Given the description of an element on the screen output the (x, y) to click on. 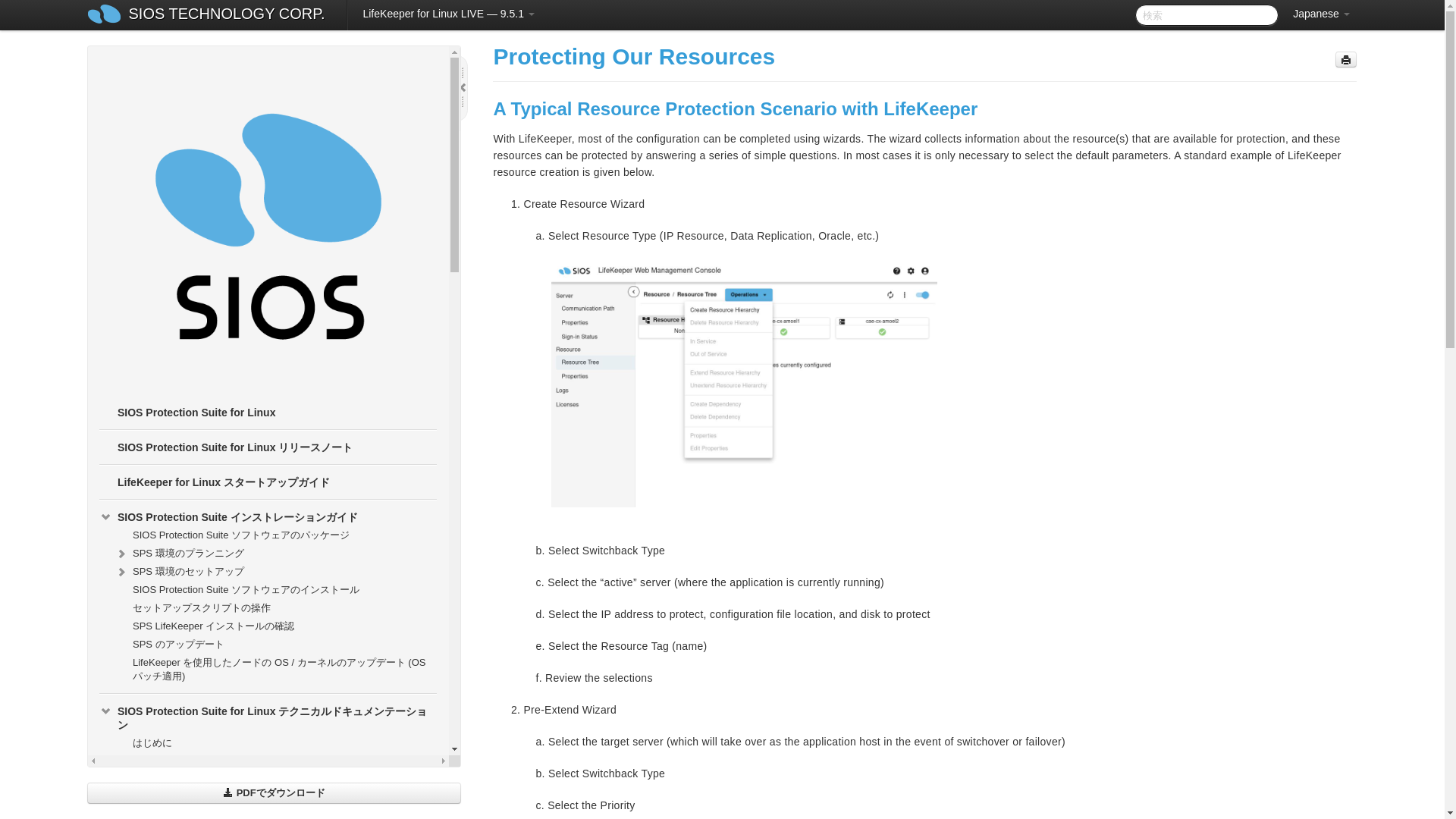
Japanese (1320, 14)
SIOS TECHNOLOGY CORP. (226, 15)
